Given the description of an element on the screen output the (x, y) to click on. 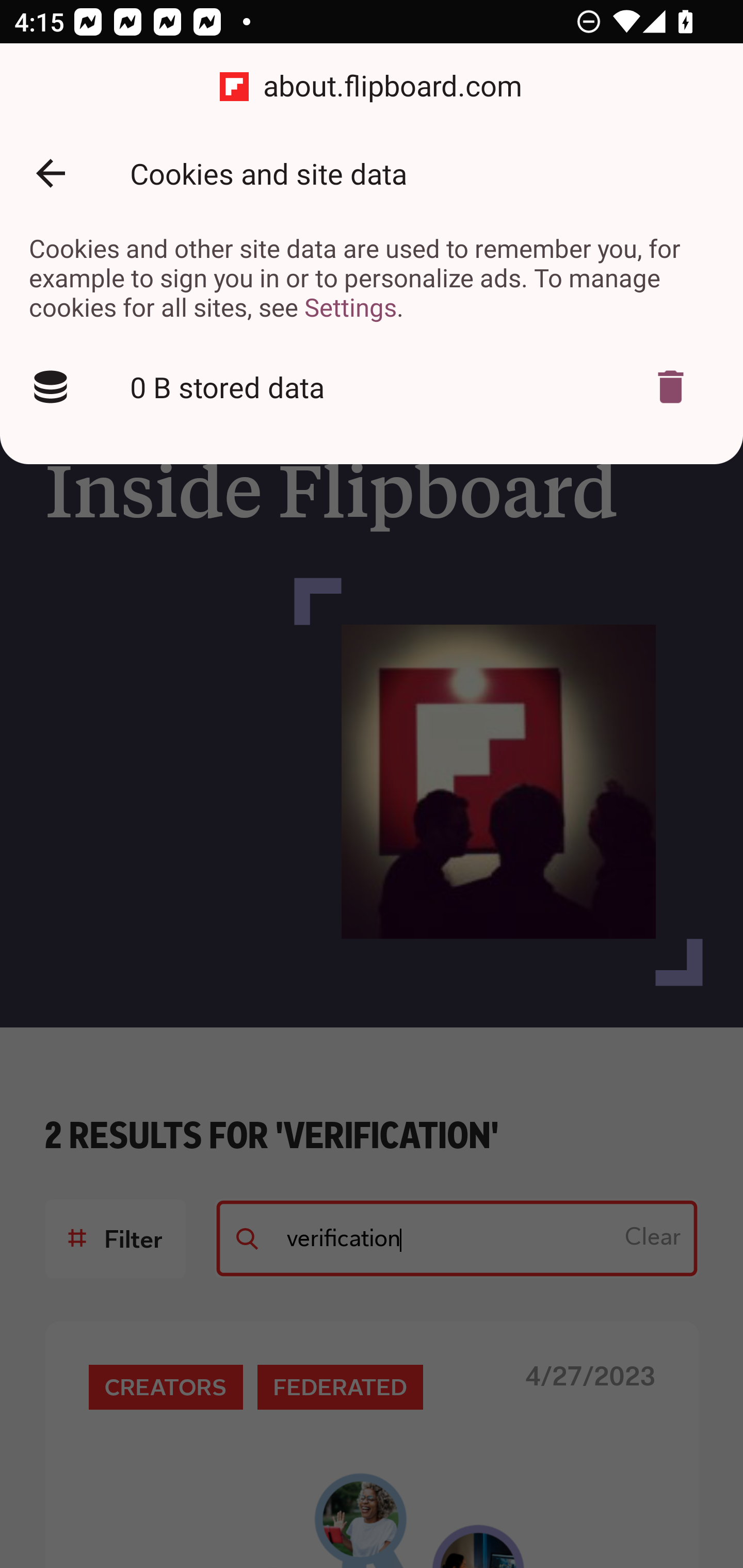
about.flipboard.com (371, 86)
Back (50, 173)
0 B stored data Delete cookies? (371, 386)
